Given the description of an element on the screen output the (x, y) to click on. 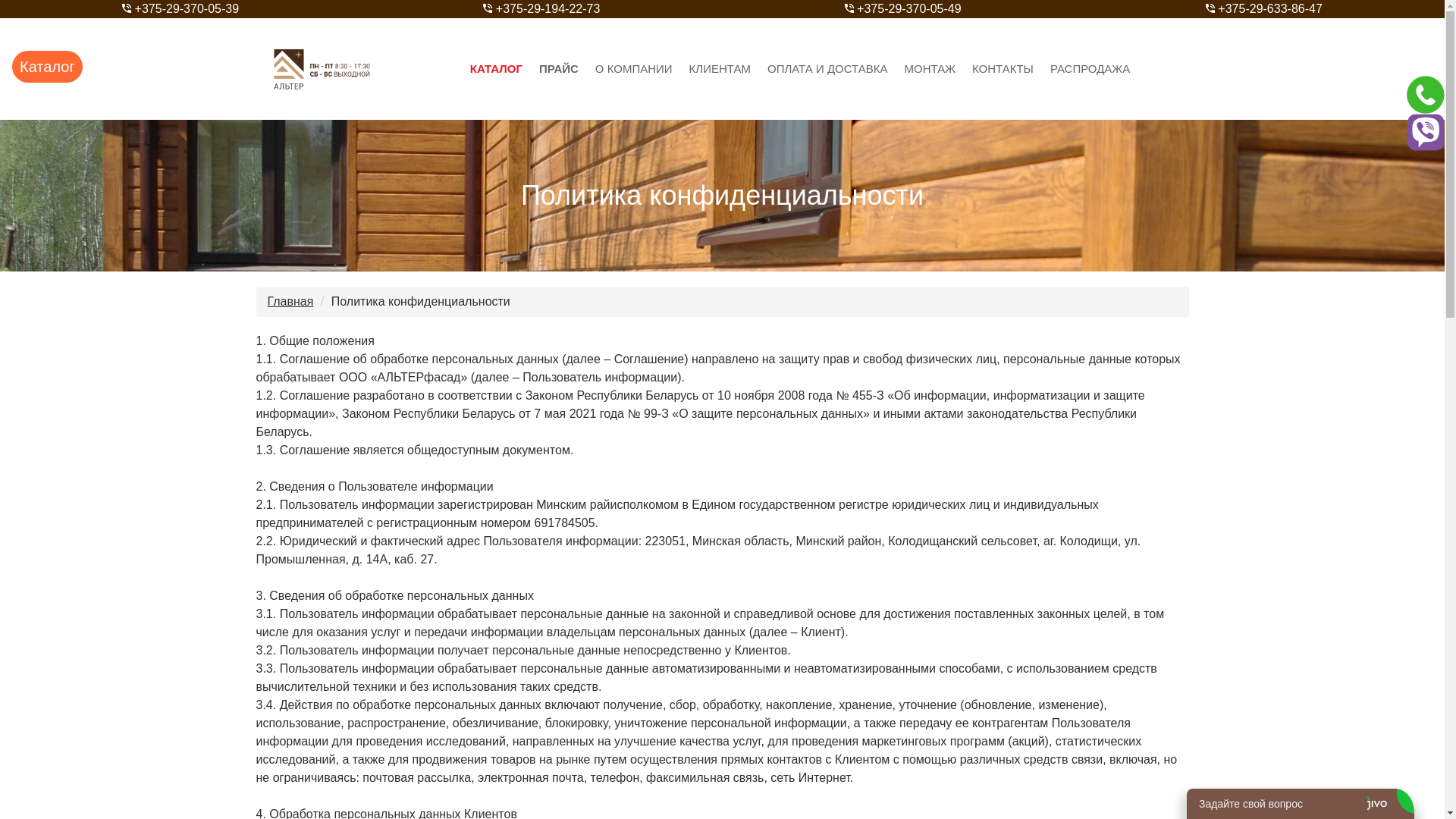
+375-29-370-05-49 Element type: text (903, 9)
+375-29-370-05-39 Element type: text (180, 9)
sales@alter.by Element type: text (800, 606)
+375-29-194-22-73 Element type: text (541, 9)
+375-29-633-86-47 Element type: text (1264, 9)
Corten Element type: text (518, 599)
